Given the description of an element on the screen output the (x, y) to click on. 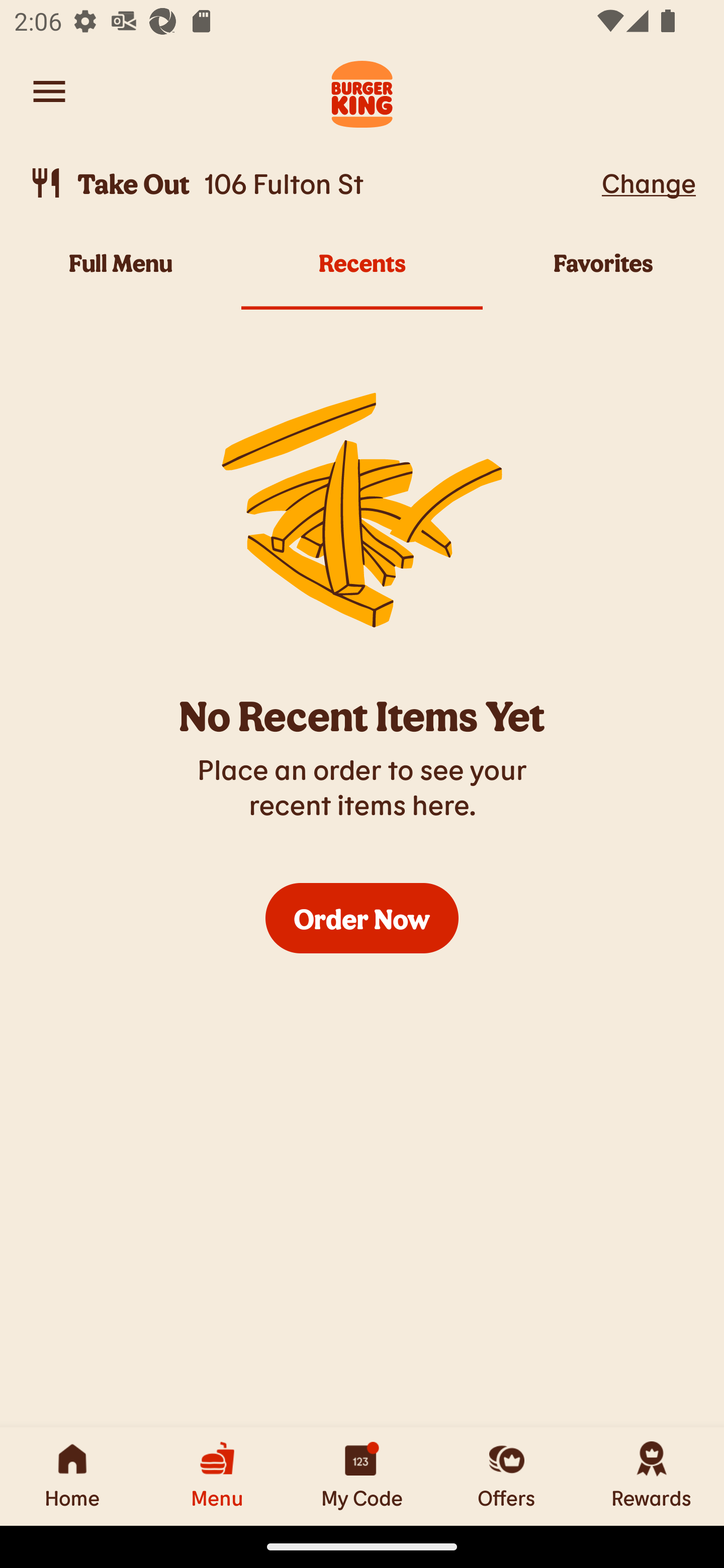
Burger King Logo. Navigate to Home (362, 91)
Navigate to account menu  (49, 91)
Take Out, 106 Fulton St  Take Out 106 Fulton St (311, 183)
Change (648, 182)
Full Menu (120, 273)
Recents (361, 273)
Favorites (603, 273)
Order Now (361, 917)
Home (72, 1475)
Menu (216, 1475)
My Code (361, 1475)
Offers (506, 1475)
Rewards (651, 1475)
